Given the description of an element on the screen output the (x, y) to click on. 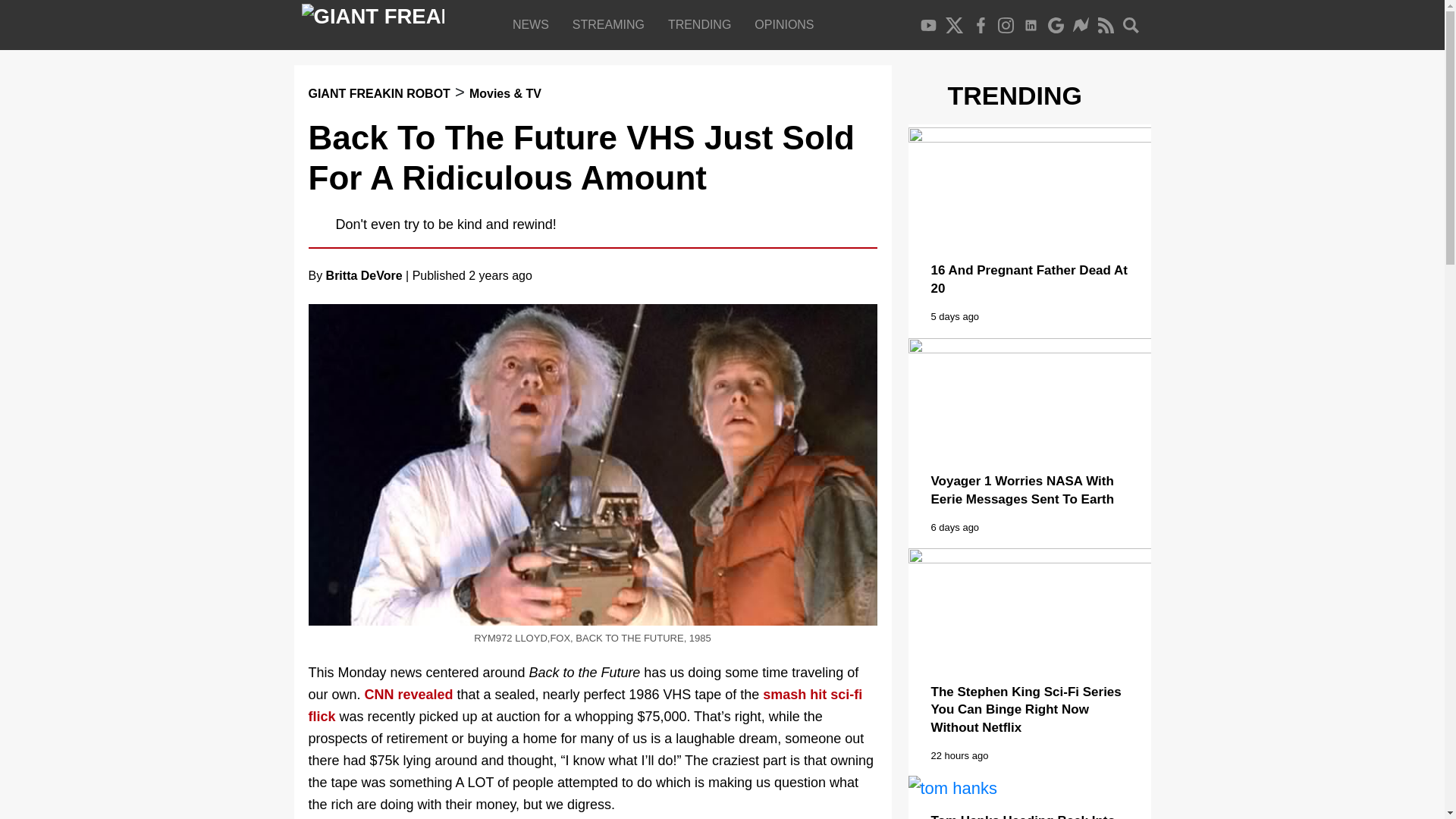
OPINIONS (786, 24)
GIANT FREAKIN ROBOT (378, 92)
STREAMING (611, 24)
Back To The Future VHS Just Sold For A Ridiculous Amount (580, 157)
TRENDING (702, 24)
Britta DeVore (364, 275)
NEWS (533, 24)
Trending (702, 24)
Streaming (611, 24)
Entertainment News (533, 24)
